Given the description of an element on the screen output the (x, y) to click on. 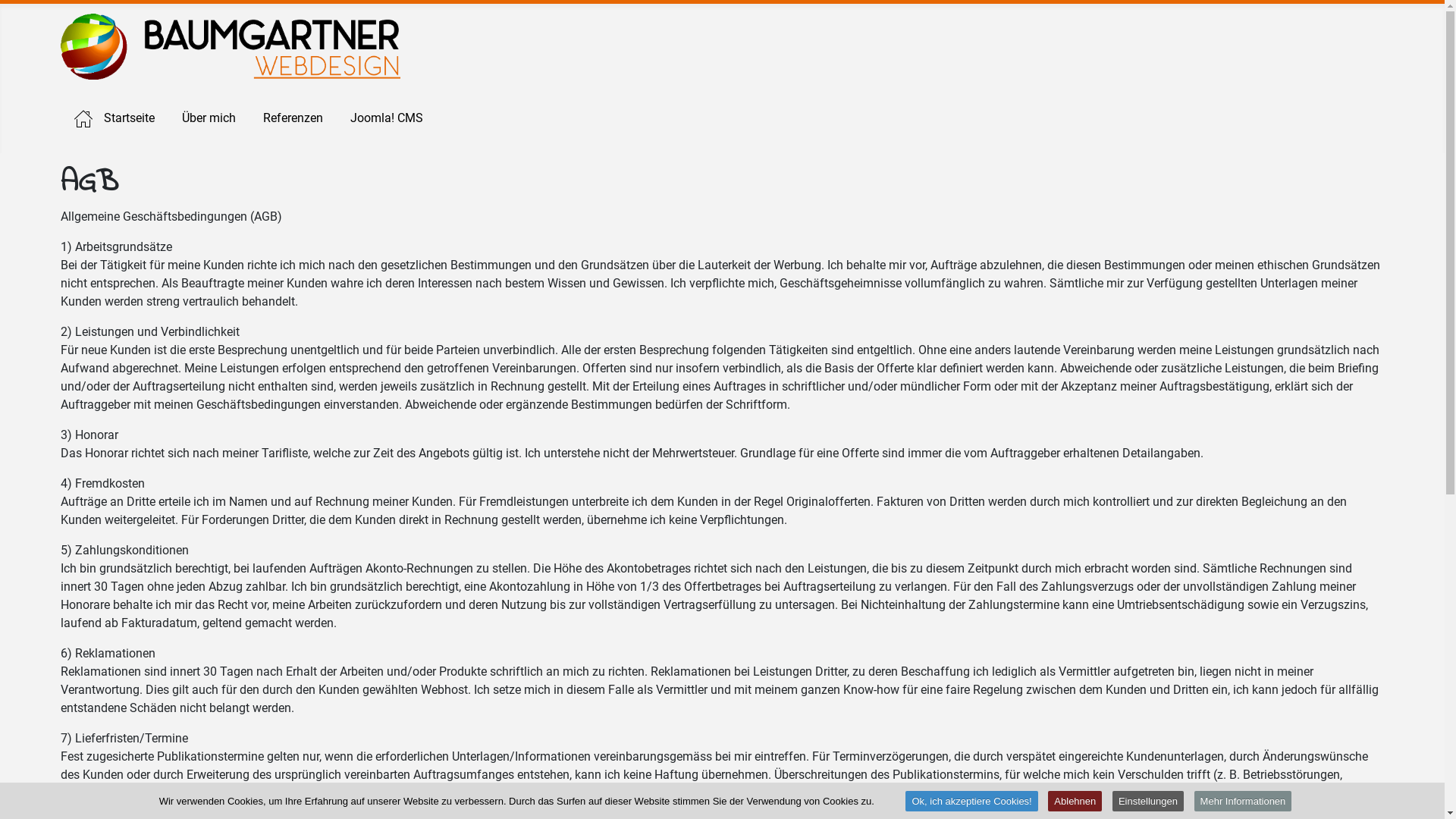
Ablehnen Element type: text (1074, 800)
Ok, ich akzeptiere Cookies! Element type: text (971, 800)
Einstellungen Element type: text (1147, 800)
Joomla! CMS Element type: text (386, 118)
1 Element type: text (680, 445)
Referenzen Element type: text (292, 118)
Alle Cookies zulassen Element type: text (570, 544)
Startseite Element type: text (114, 118)
Alle Cookies ablehnen Element type: text (727, 544)
Mehr Informationen Element type: text (1243, 800)
Einstellungen speichern Element type: text (884, 544)
